Given the description of an element on the screen output the (x, y) to click on. 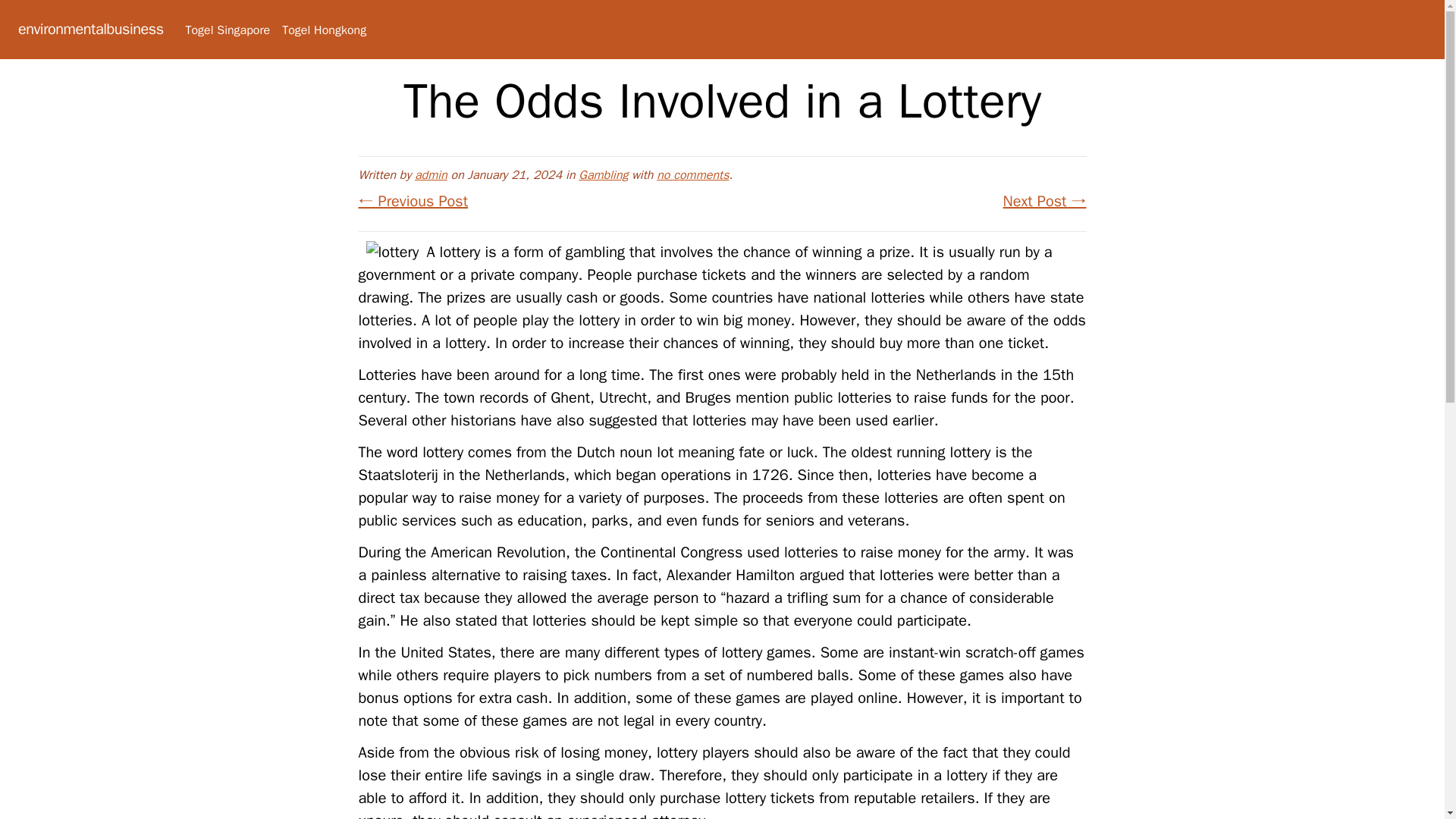
Gambling (602, 174)
environmentalbusiness (90, 29)
Togel Hongkong (324, 30)
Togel Singapore (226, 30)
no comments (692, 174)
admin (430, 174)
no comments (692, 174)
